Given the description of an element on the screen output the (x, y) to click on. 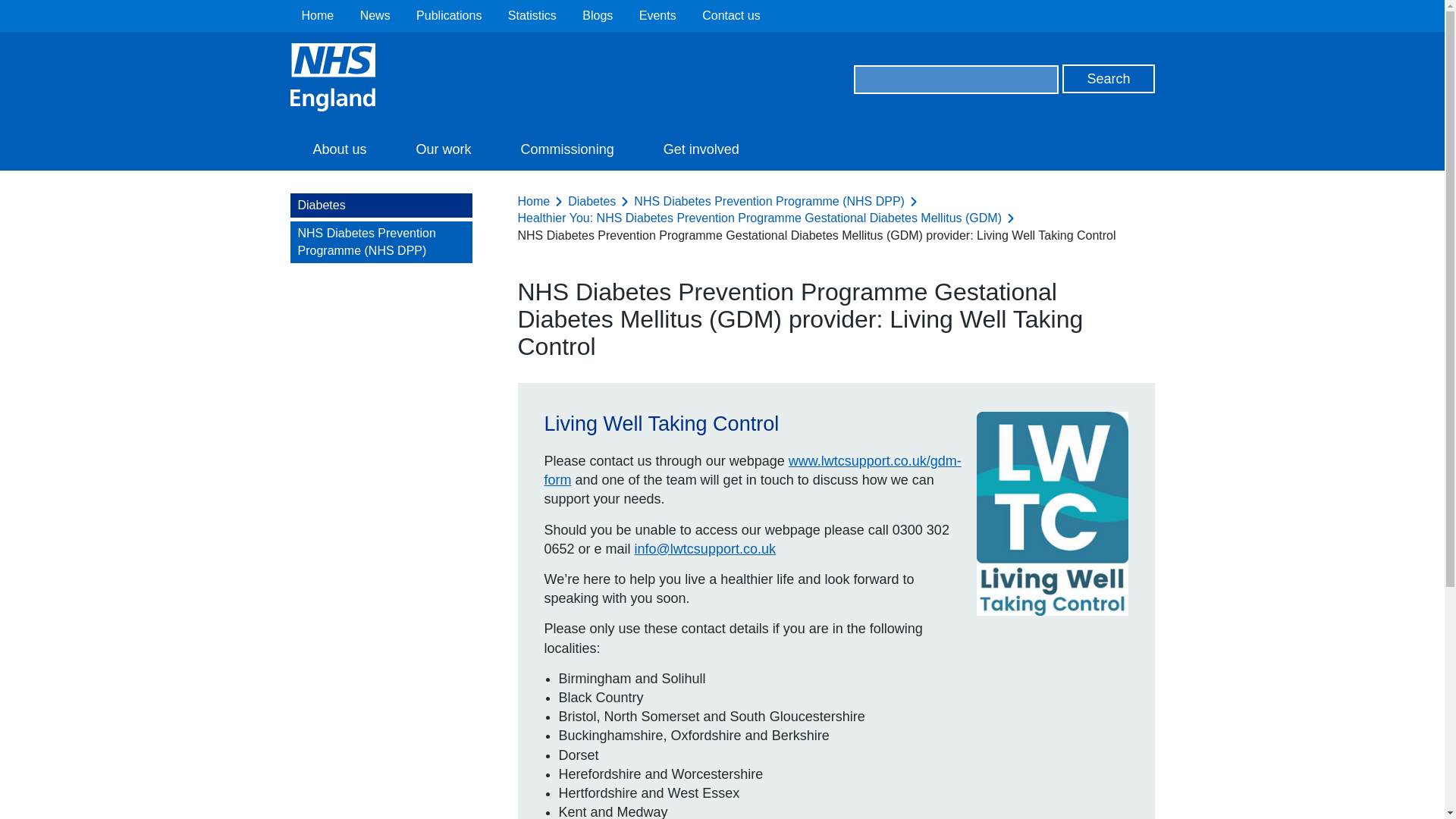
Our work (444, 149)
Events (658, 15)
Search (1108, 78)
Blogs (597, 15)
Publications (448, 15)
Home (533, 201)
Contact us (730, 15)
Statistics (532, 15)
Diabetes (591, 201)
Home (317, 15)
